Given the description of an element on the screen output the (x, y) to click on. 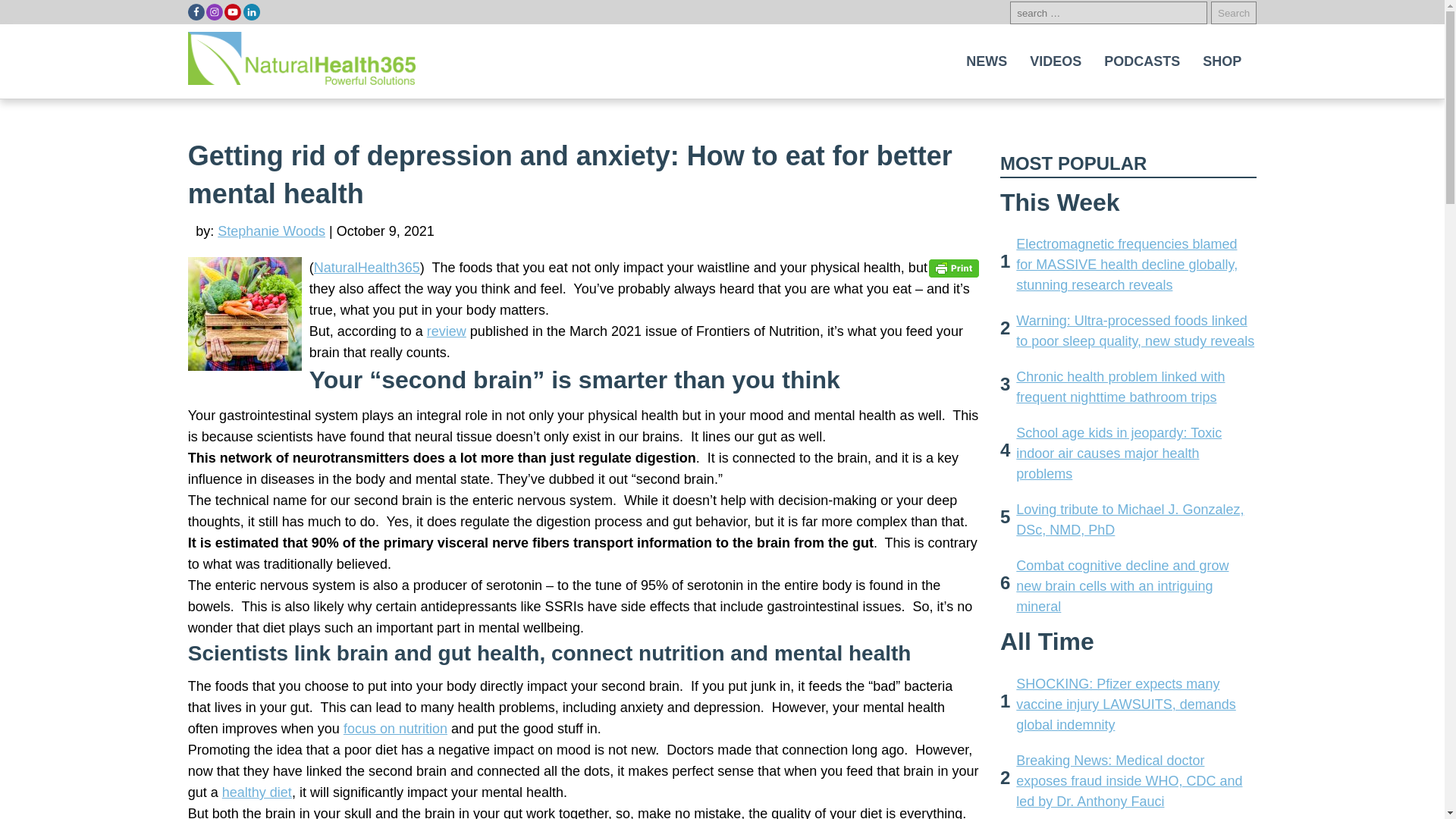
NaturalHealth365 (367, 267)
NaturalHealth365 on Facebook (196, 12)
VIDEOS (1055, 60)
NaturalHealth365 on Instagram (214, 12)
Search (1233, 12)
Stephanie Woods (270, 231)
Search (1233, 12)
Search (1233, 12)
PODCASTS (1142, 60)
review (445, 331)
NaturalHealth365 on LinkedIn (251, 12)
SHOP (1222, 60)
focus on nutrition (394, 728)
NEWS (986, 60)
NaturalHealth365 YouTube Channel (232, 12)
